Given the description of an element on the screen output the (x, y) to click on. 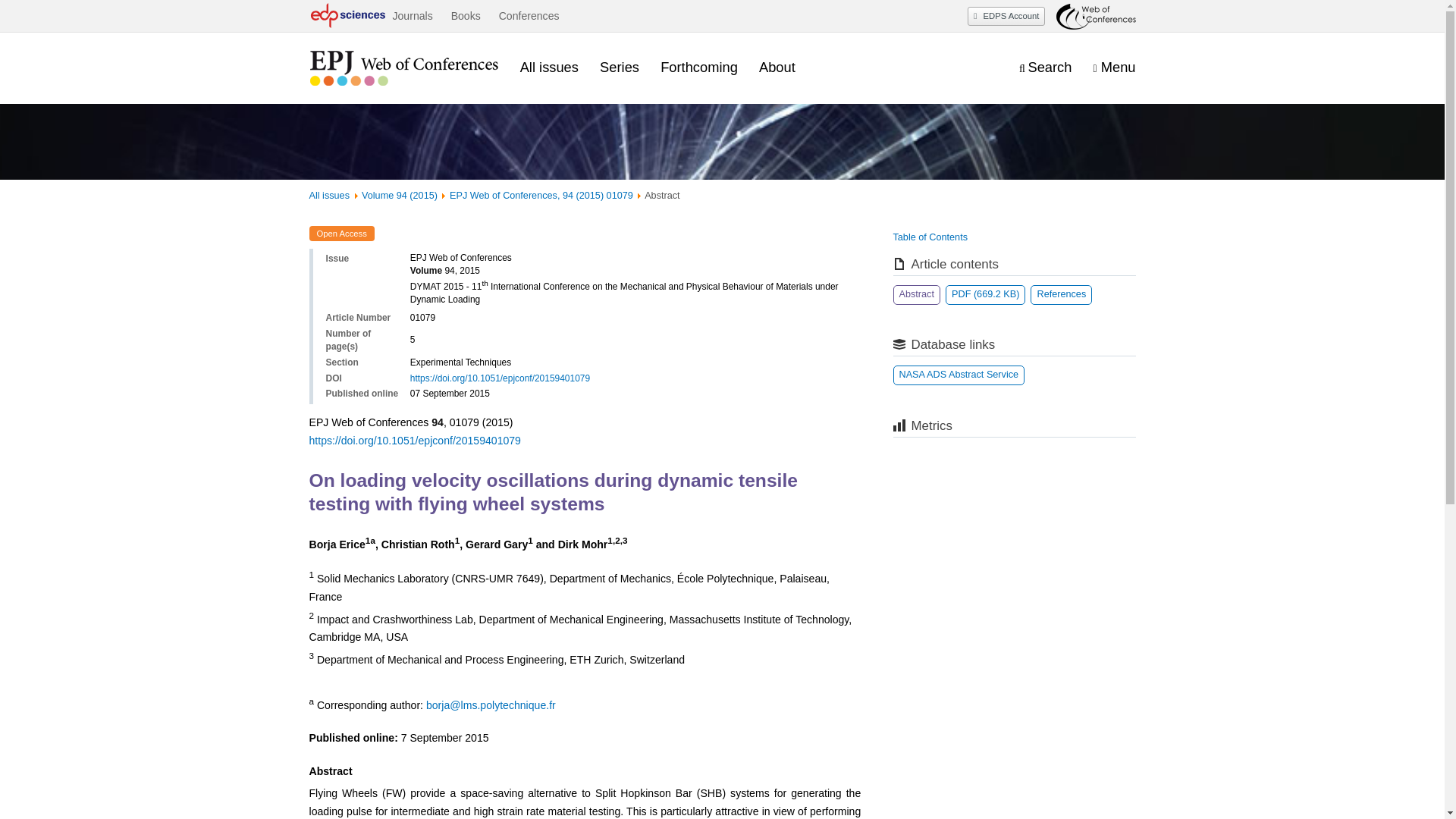
All issues (328, 195)
Menu (1114, 67)
References (1061, 294)
All issues (548, 67)
About (776, 67)
Journals (411, 16)
Series (619, 67)
Conferences (529, 16)
Forthcoming (699, 67)
Display the search engine (1045, 67)
